Given the description of an element on the screen output the (x, y) to click on. 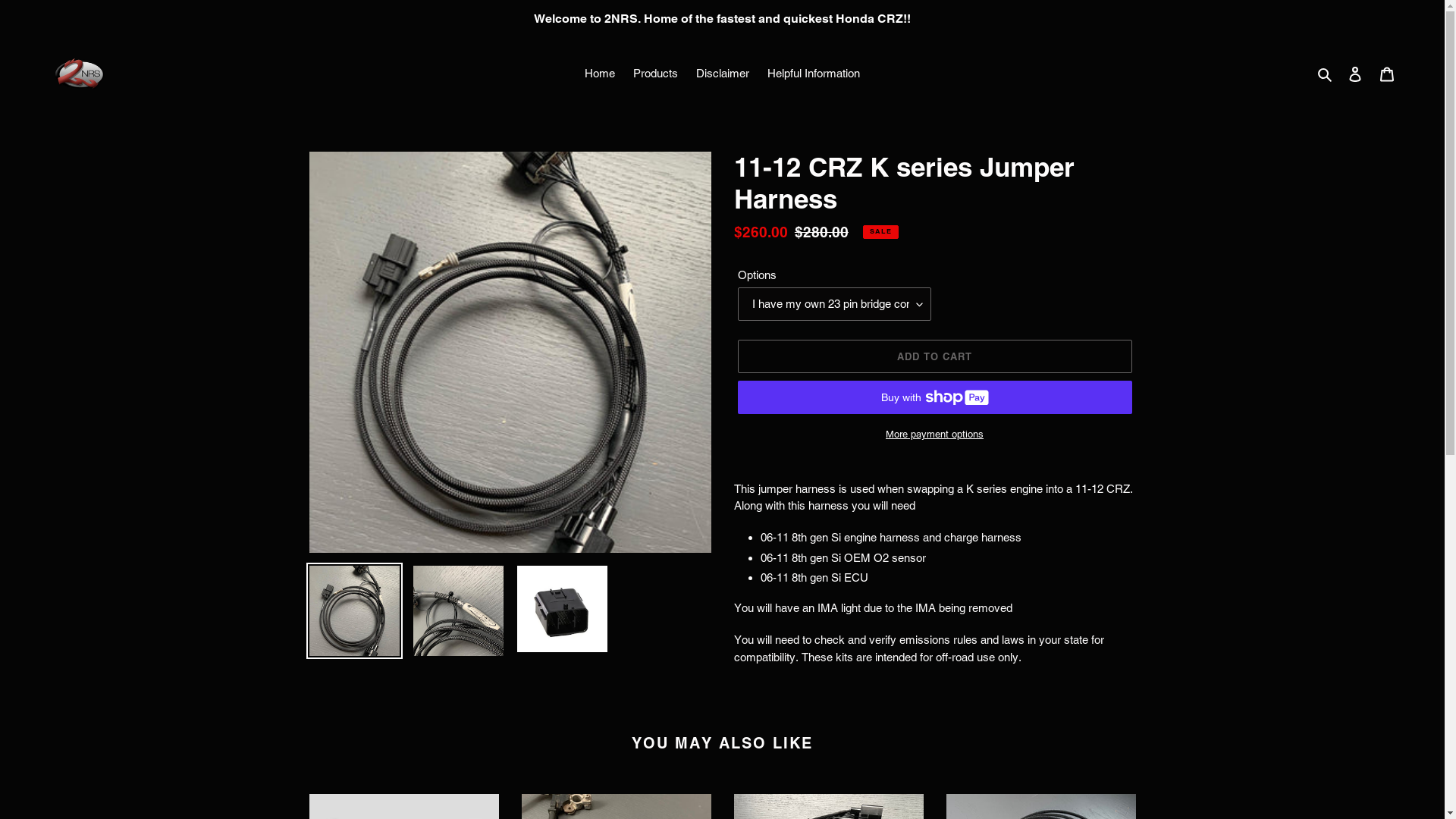
Search Element type: text (1325, 73)
Cart Element type: text (1386, 73)
ADD TO CART Element type: text (934, 356)
Disclaimer Element type: text (722, 73)
More payment options Element type: text (934, 434)
Products Element type: text (655, 73)
Home Element type: text (599, 73)
Log in Element type: text (1355, 73)
Helpful Information Element type: text (813, 73)
